Given the description of an element on the screen output the (x, y) to click on. 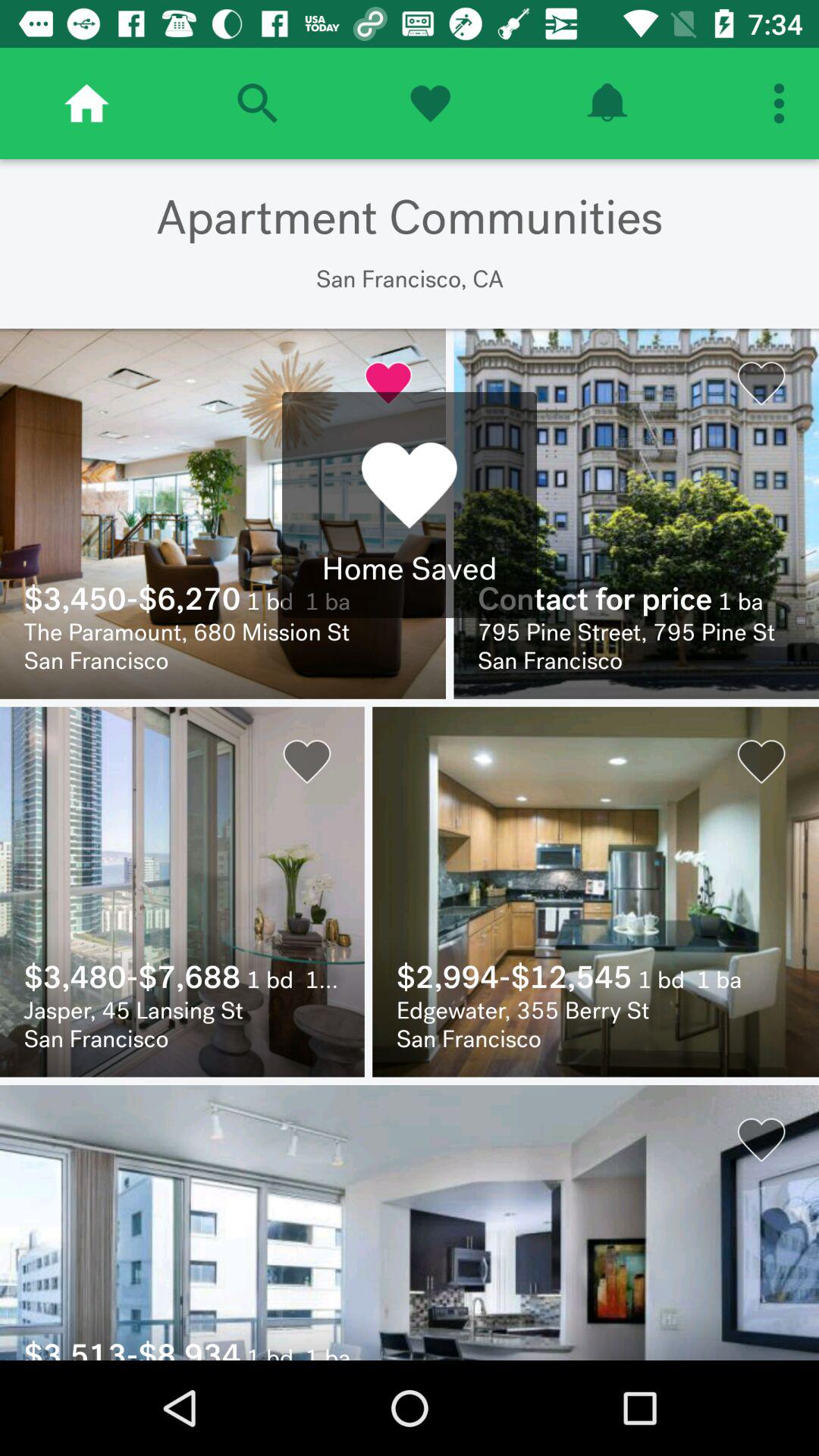
save home (429, 103)
